Given the description of an element on the screen output the (x, y) to click on. 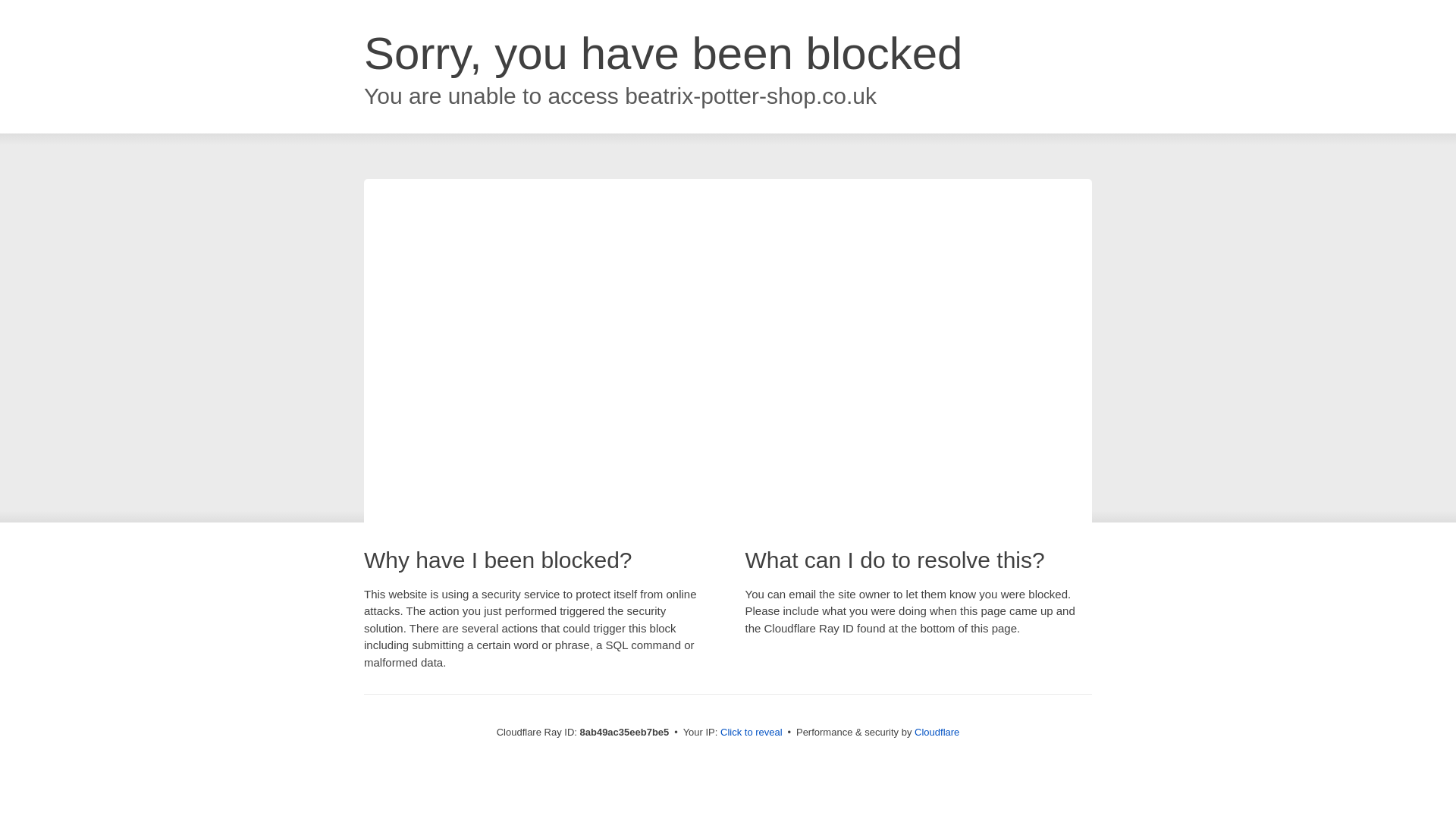
Click to reveal (751, 732)
Cloudflare (936, 731)
